Given the description of an element on the screen output the (x, y) to click on. 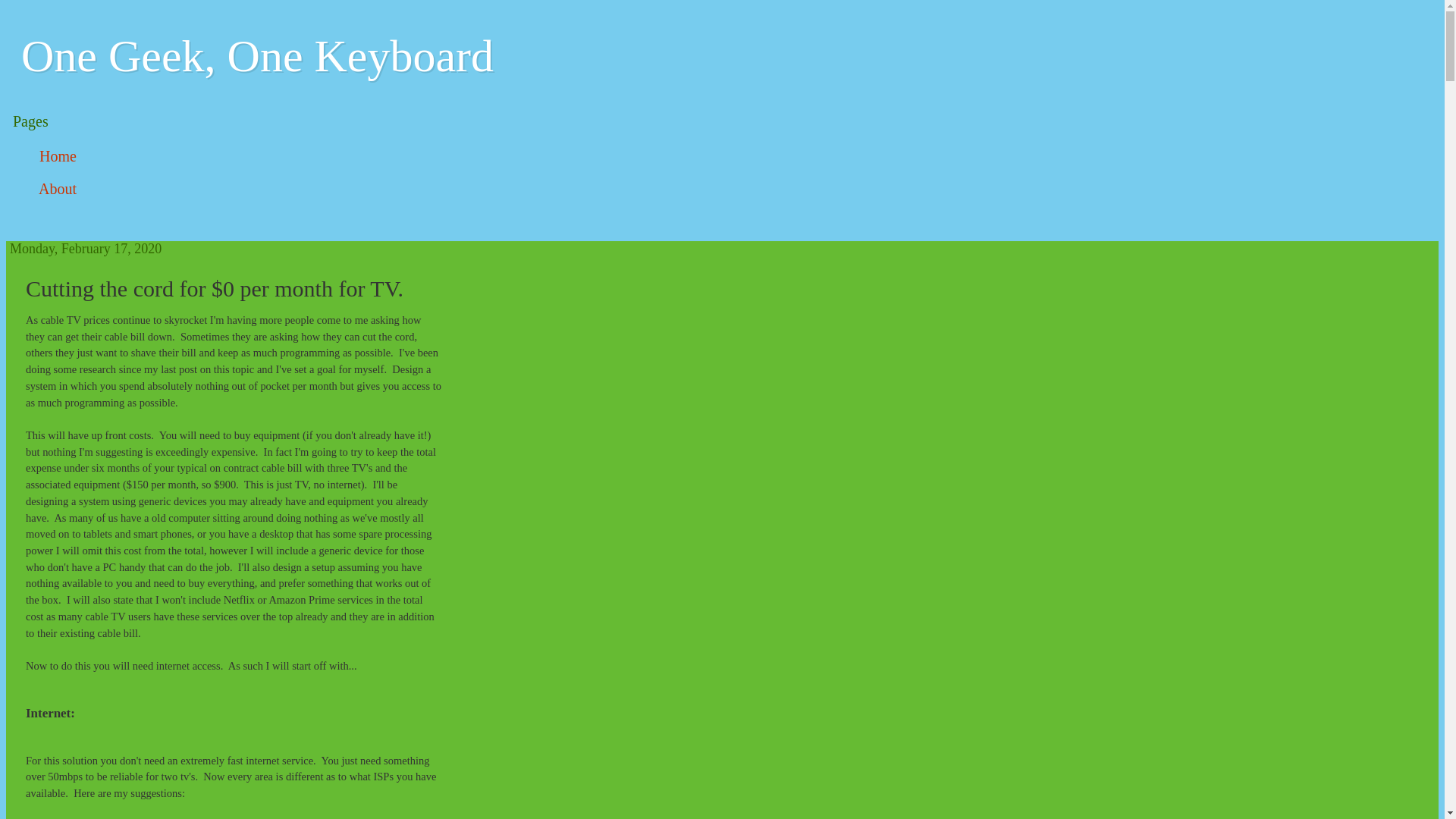
About Element type: text (57, 188)
Home Element type: text (57, 156)
One Geek, One Keyboard Element type: text (257, 56)
